Given the description of an element on the screen output the (x, y) to click on. 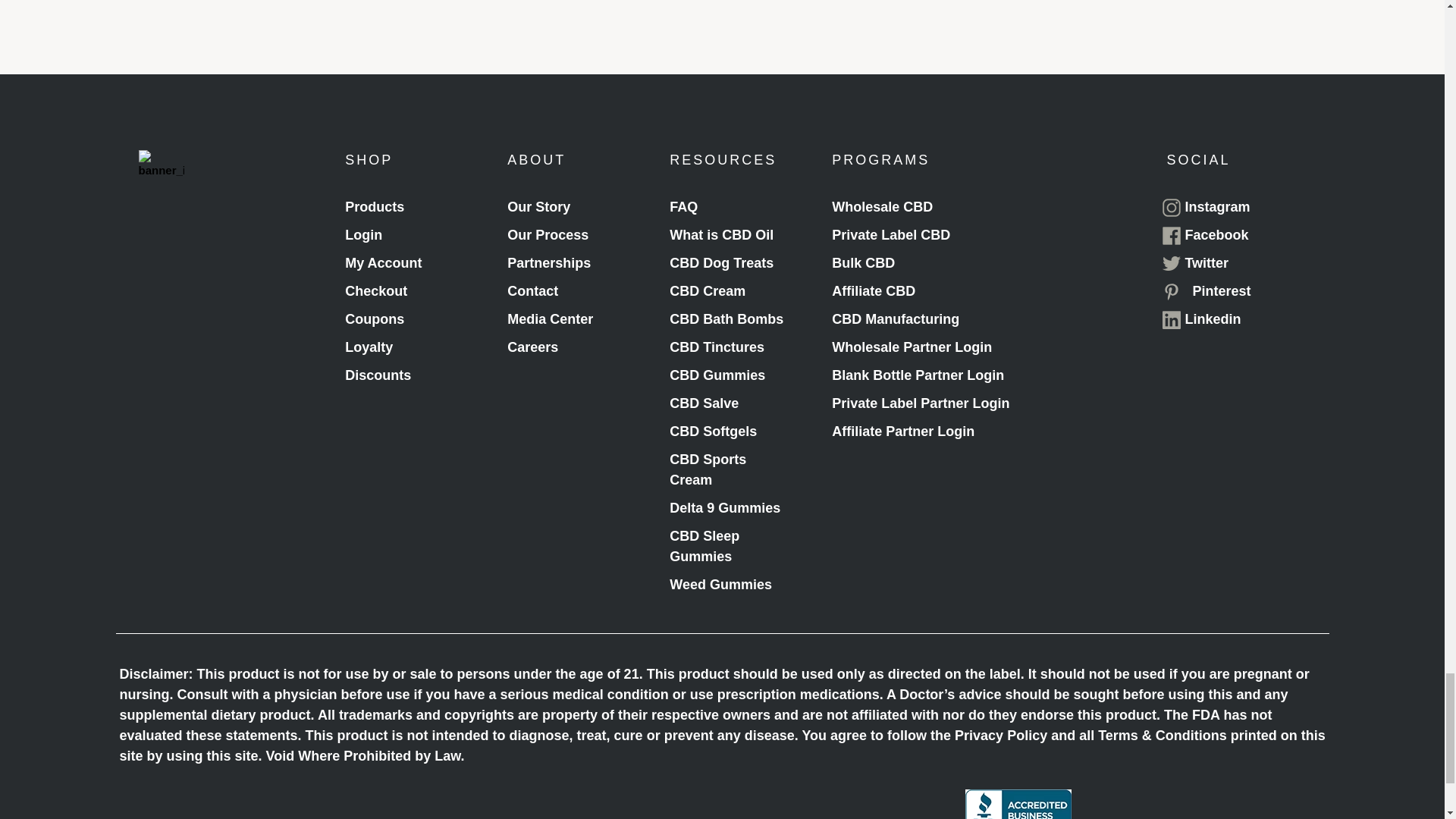
Joy Organics on Pinterest (1205, 291)
Joy Organics on Twitter (1194, 263)
Joy Organics on Instagram (1205, 207)
Joy Organics on Linkedn (1200, 319)
Joy Organics on Facebook (1204, 235)
